Given the description of an element on the screen output the (x, y) to click on. 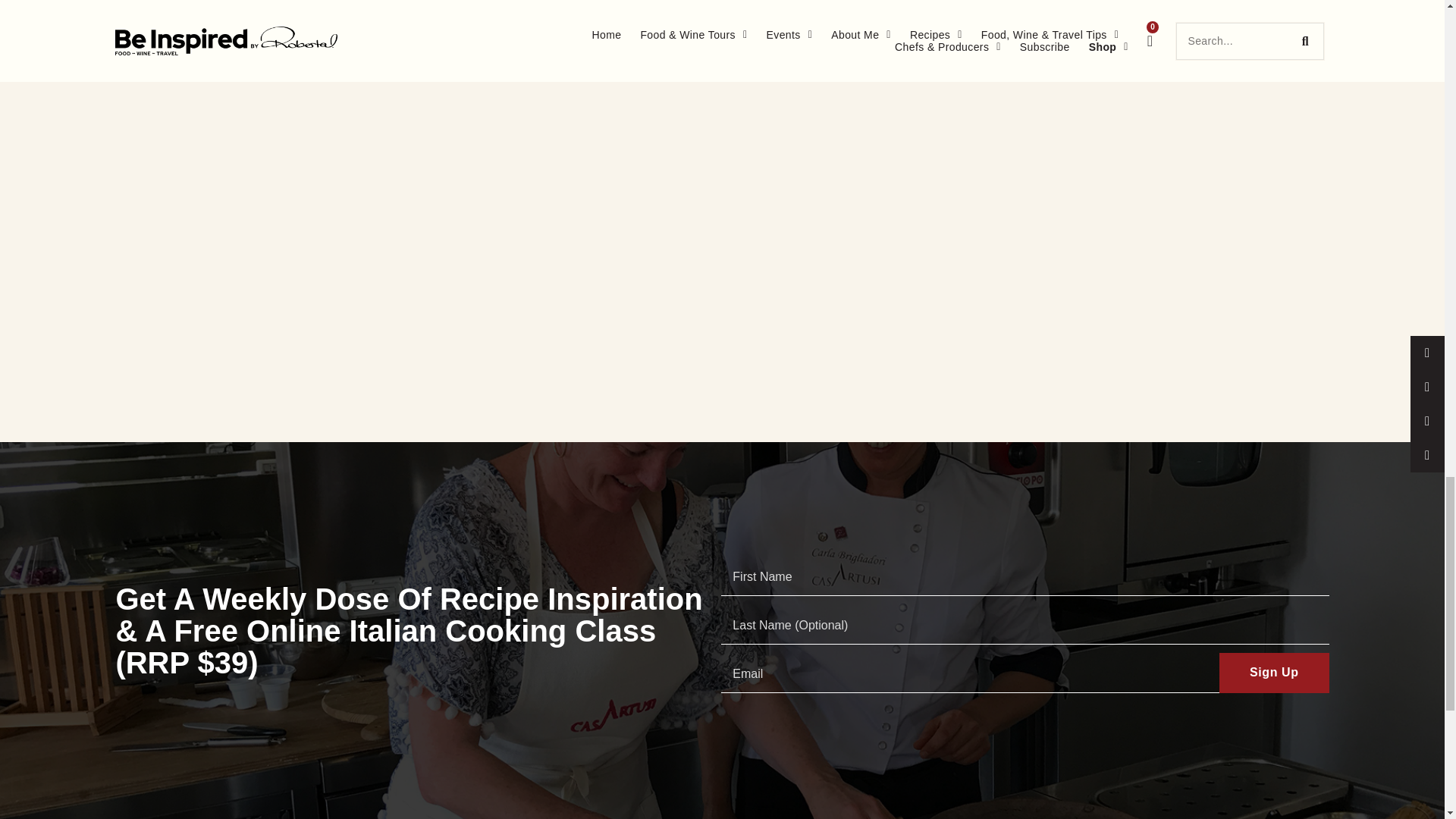
Sign up (1274, 672)
